Given the description of an element on the screen output the (x, y) to click on. 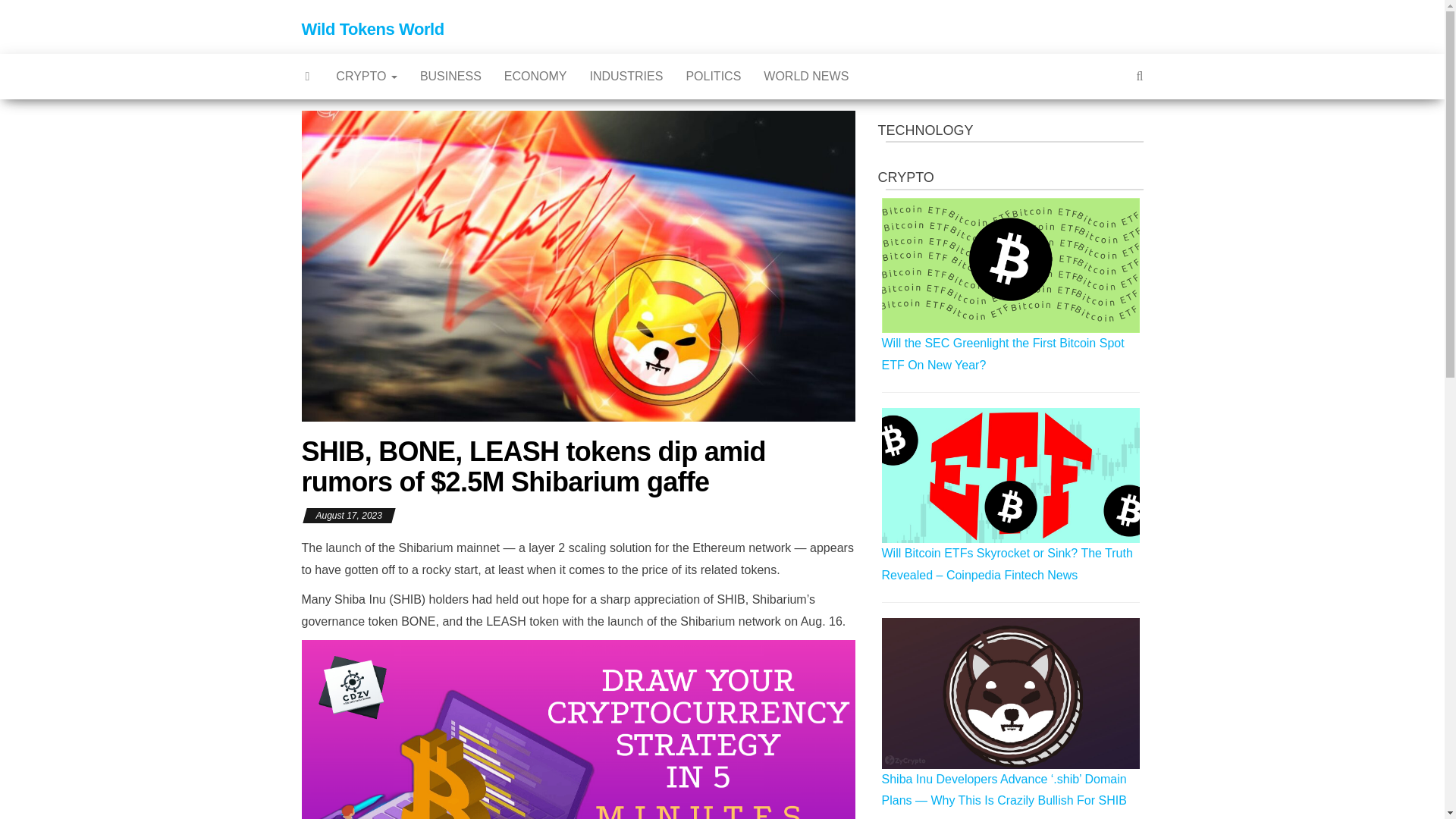
BUSINESS (451, 76)
POLITICS (713, 76)
CRYPTO (366, 76)
World News (806, 76)
WORLD NEWS (806, 76)
INDUSTRIES (626, 76)
Business (451, 76)
